Given the description of an element on the screen output the (x, y) to click on. 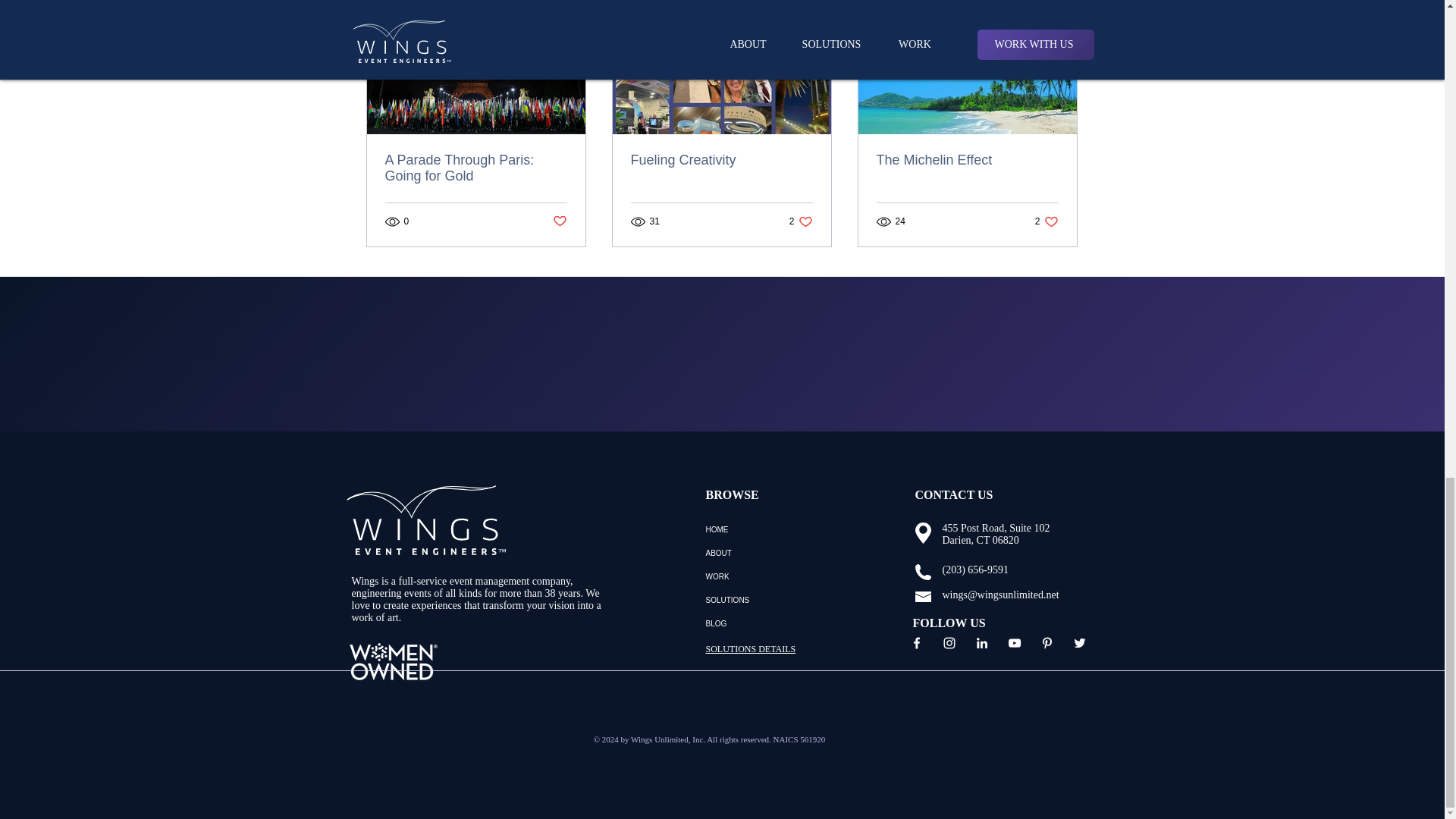
Fueling Creativity (721, 160)
The Michelin Effect (967, 160)
A Parade Through Paris: Going for Gold (1046, 221)
Post not marked as liked (476, 168)
